Given the description of an element on the screen output the (x, y) to click on. 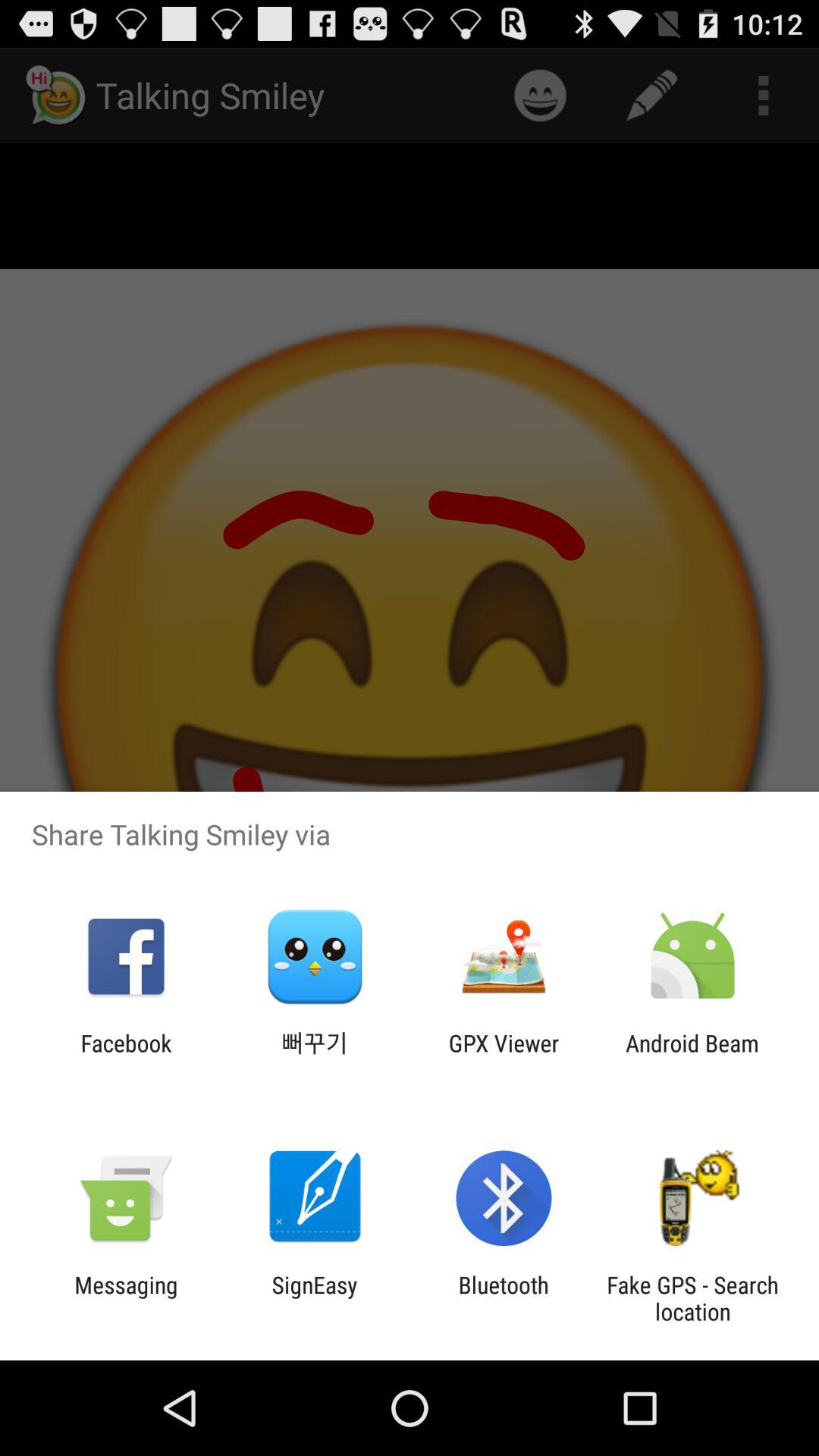
click app next to facebook icon (314, 1056)
